Given the description of an element on the screen output the (x, y) to click on. 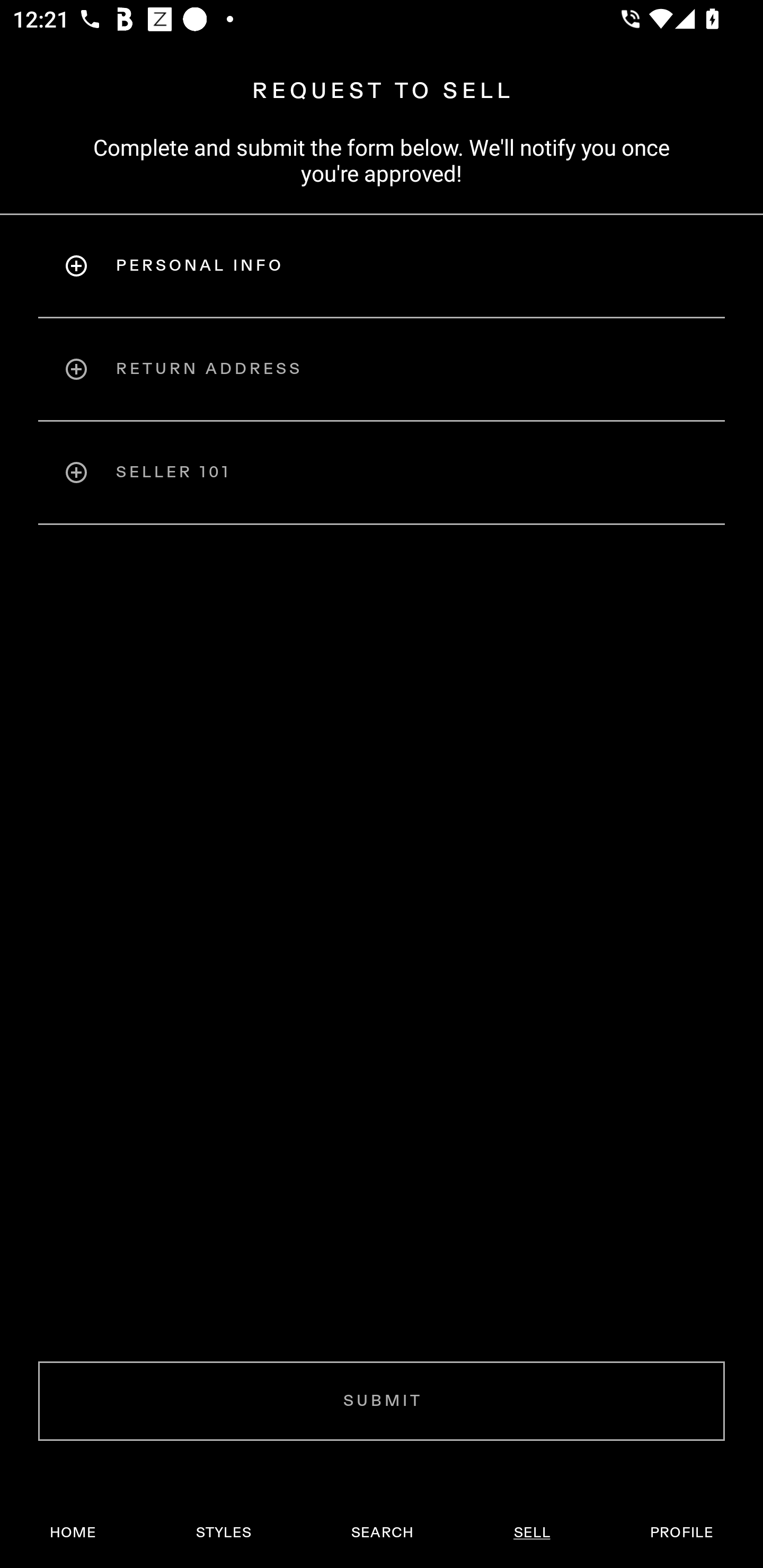
PERSONAL INFO (381, 265)
RETURN ADDRESS (381, 369)
SELLER 101 (381, 472)
SUBMIT (381, 1400)
HOME (72, 1532)
STYLES (222, 1532)
SEARCH (381, 1532)
SELL (531, 1532)
PROFILE (681, 1532)
